Given the description of an element on the screen output the (x, y) to click on. 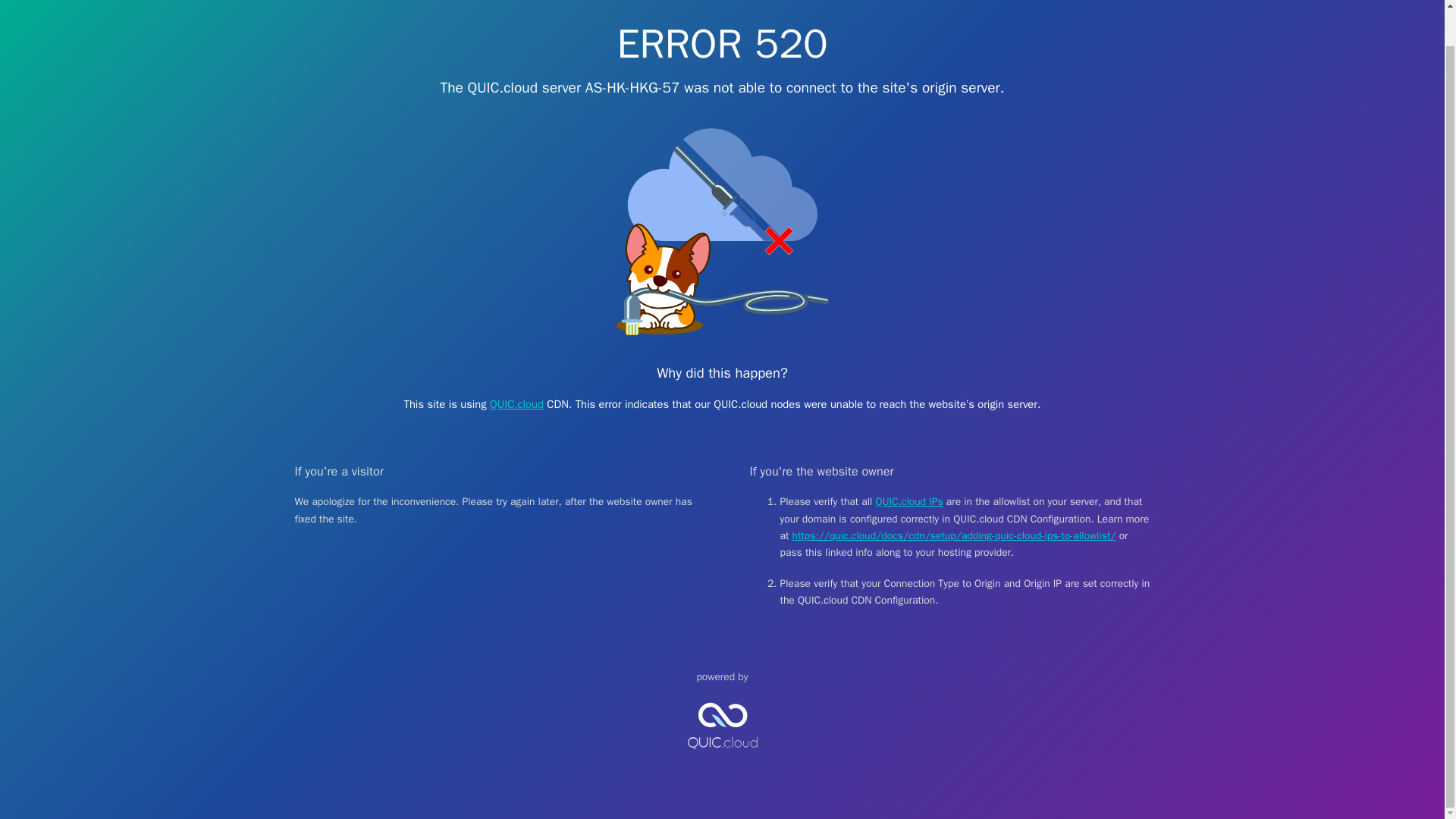
QUIC.cloud (721, 761)
QUIC.cloud (516, 404)
QUIC.cloud IPs (909, 501)
